Given the description of an element on the screen output the (x, y) to click on. 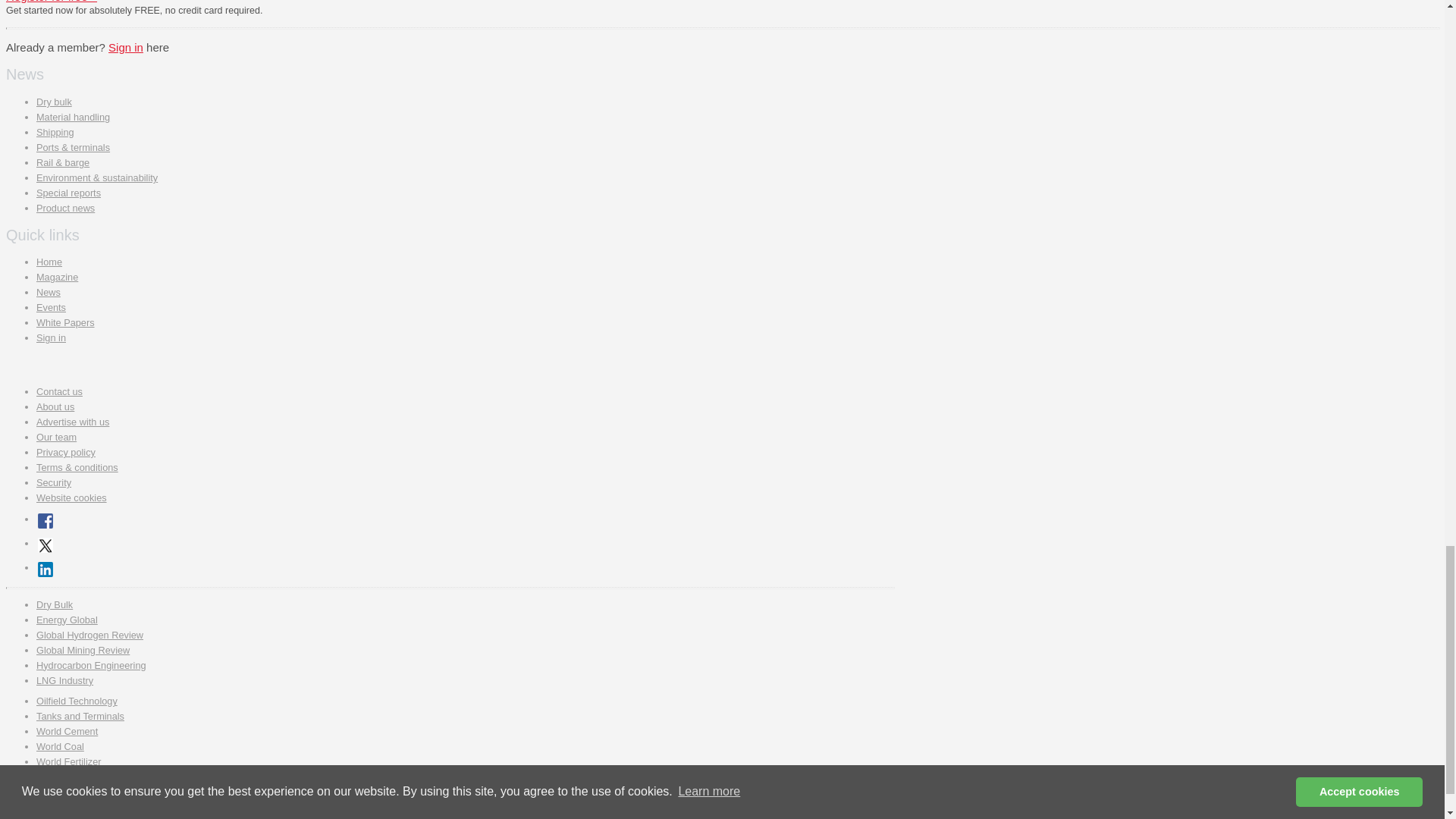
Sign in (124, 47)
Dry bulk (53, 101)
Material handling (73, 116)
